Given the description of an element on the screen output the (x, y) to click on. 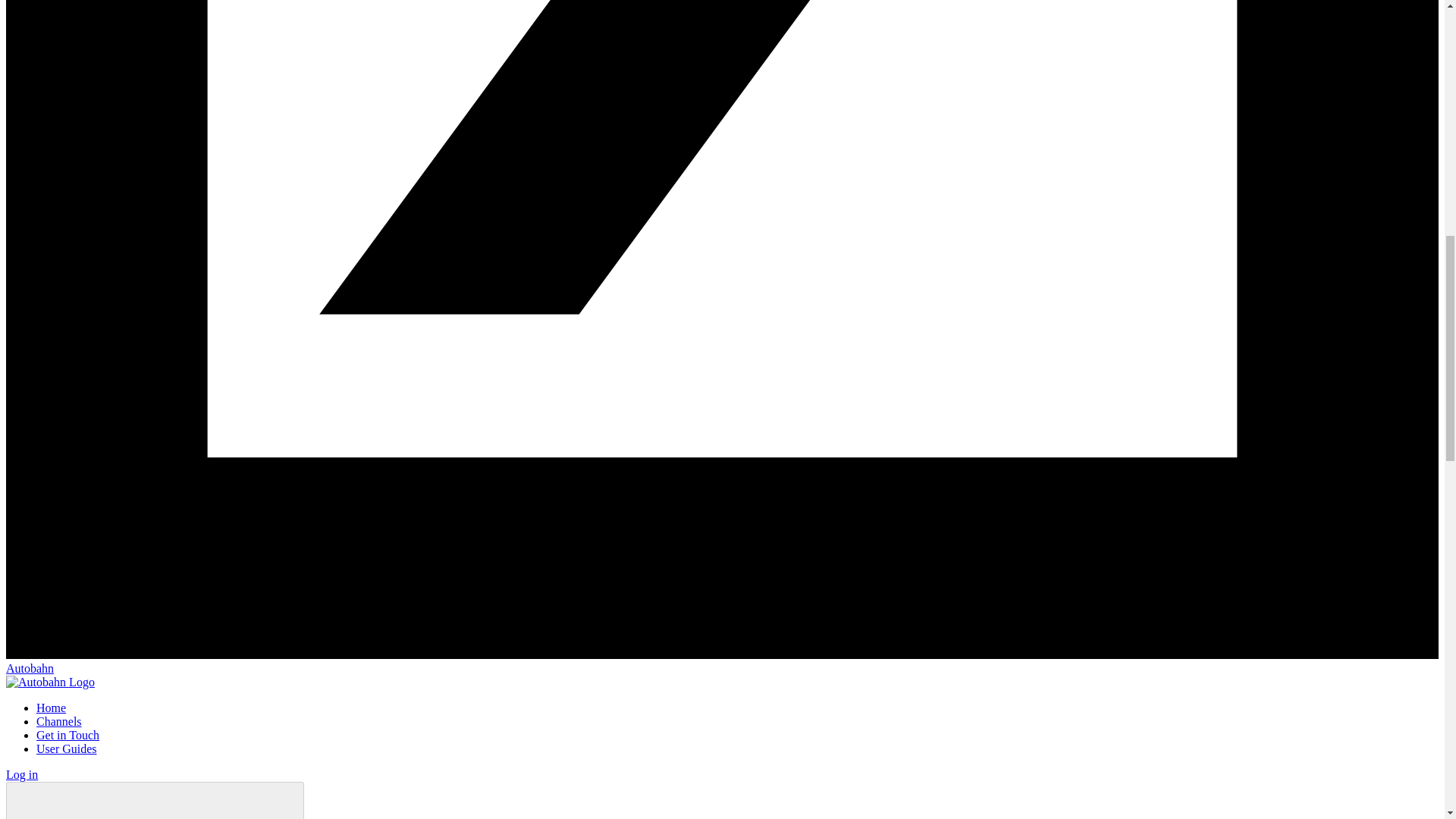
Get in Touch (67, 735)
Home (50, 707)
Channels (58, 721)
toggle menu (154, 800)
User Guides (66, 748)
Log in (21, 774)
